Given the description of an element on the screen output the (x, y) to click on. 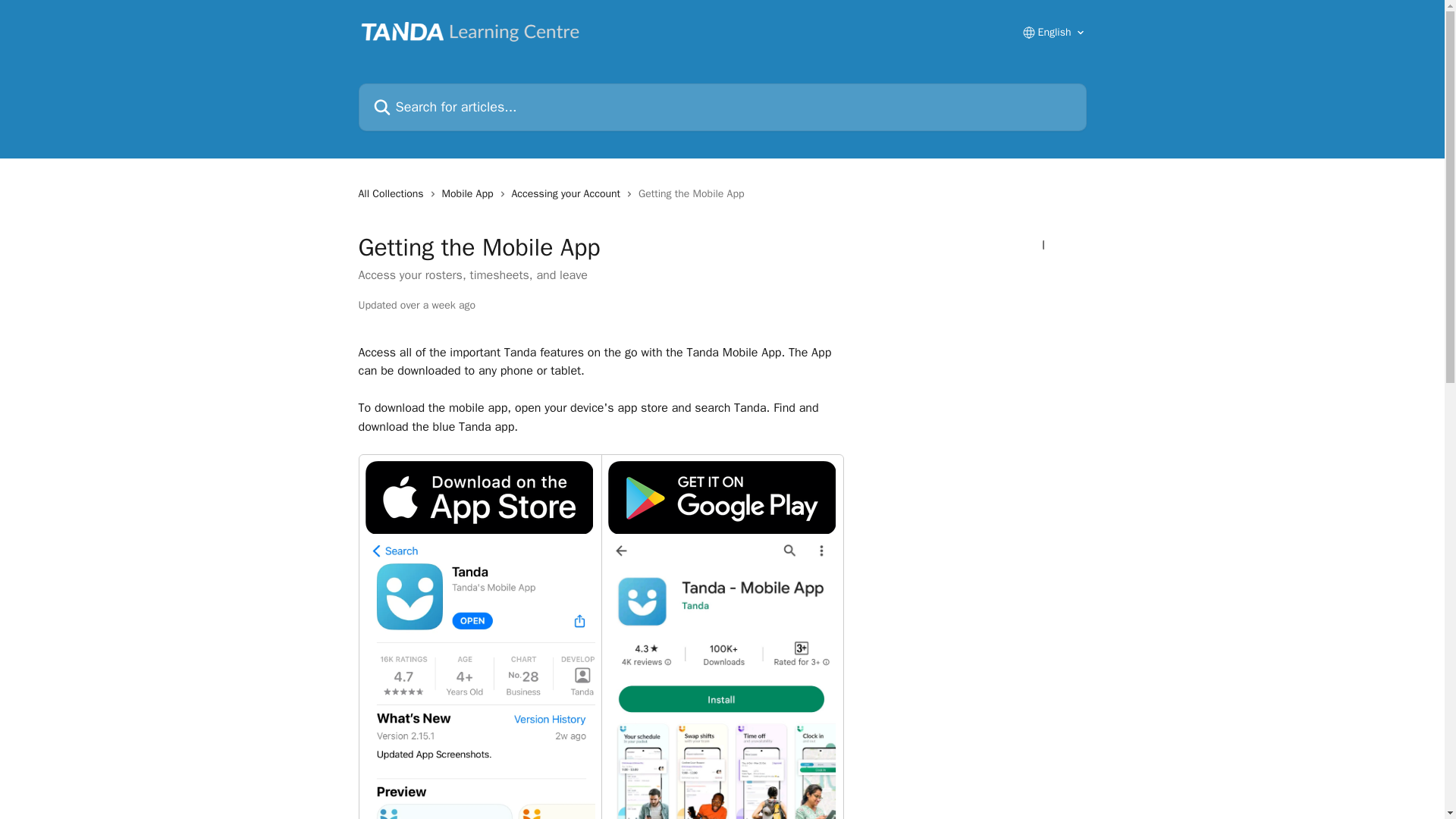
All Collections (393, 193)
Mobile App (470, 193)
Accessing your Account (569, 193)
